Given the description of an element on the screen output the (x, y) to click on. 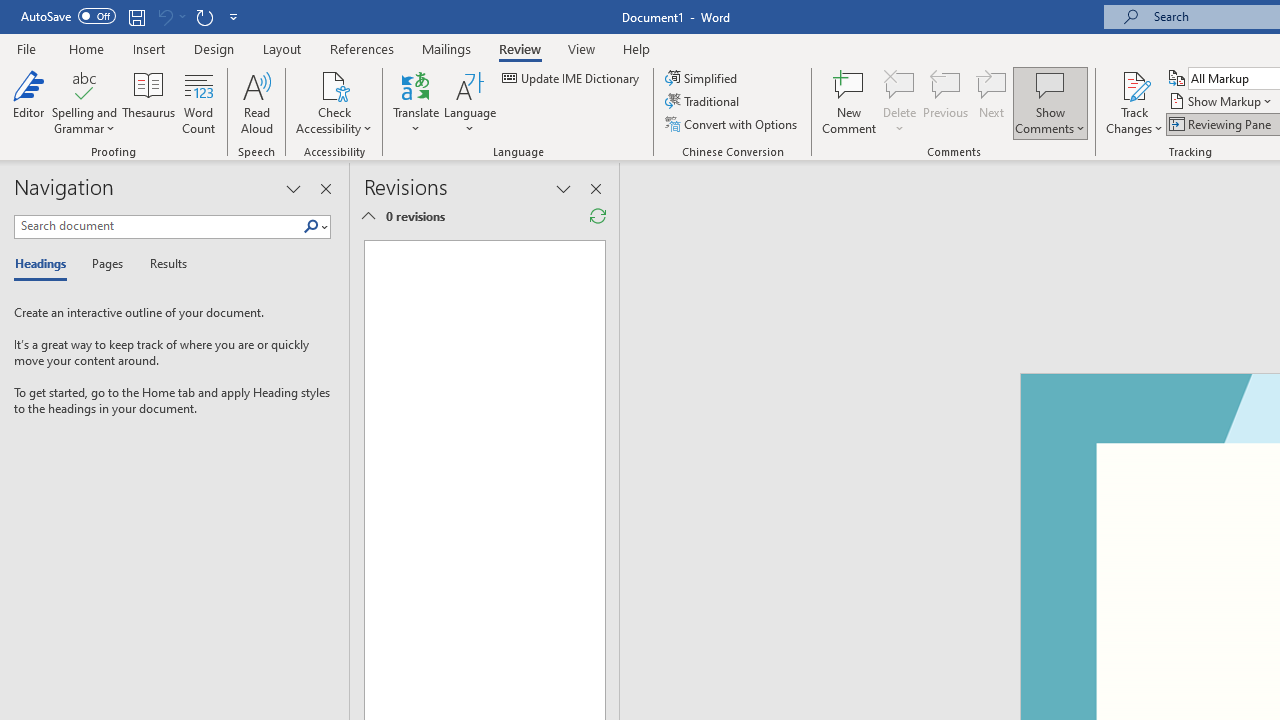
Task Pane Options (293, 188)
Search document (157, 226)
Editor (28, 102)
Track Changes (1134, 102)
Delete (900, 102)
Spelling and Grammar (84, 84)
Pages (105, 264)
Headings (45, 264)
Show Comments (1050, 84)
